Given the description of an element on the screen output the (x, y) to click on. 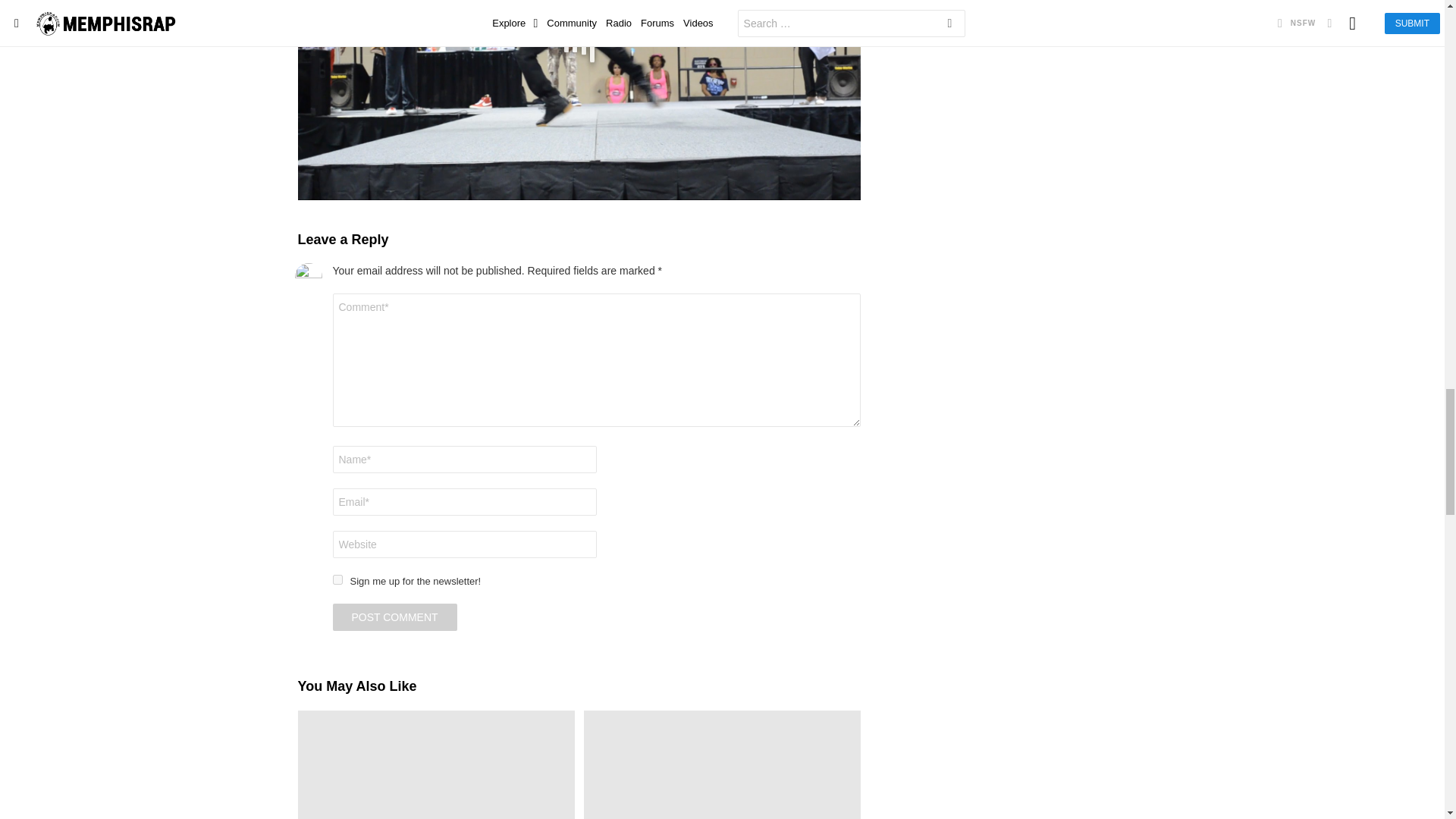
1 (336, 579)
next (853, 25)
Post Comment (394, 616)
prev (304, 25)
